Given the description of an element on the screen output the (x, y) to click on. 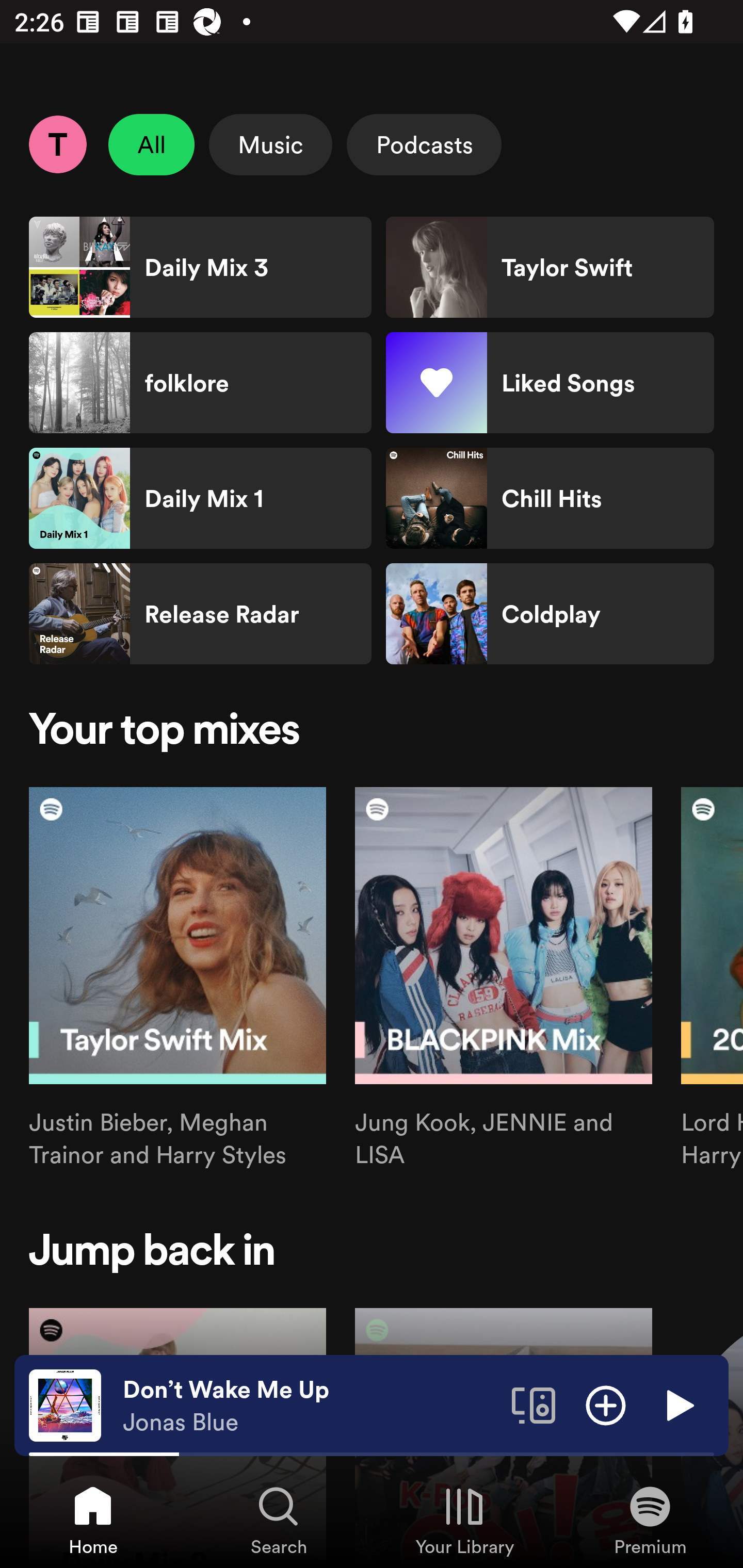
Profile (57, 144)
All Unselect All (151, 144)
Music Select Music (270, 144)
Podcasts Select Podcasts (423, 144)
Daily Mix 3 Shortcut Daily Mix 3 (199, 267)
Taylor Swift Shortcut Taylor Swift (549, 267)
folklore Shortcut folklore (199, 382)
Liked Songs Shortcut Liked Songs (549, 382)
Daily Mix 1 Shortcut Daily Mix 1 (199, 498)
Chill Hits Shortcut Chill Hits (549, 498)
Release Radar Shortcut Release Radar (199, 613)
Coldplay Shortcut Coldplay (549, 613)
Don’t Wake Me Up Jonas Blue (309, 1405)
The cover art of the currently playing track (64, 1404)
Connect to a device. Opens the devices menu (533, 1404)
Add item (605, 1404)
Play (677, 1404)
Home, Tab 1 of 4 Home Home (92, 1519)
Search, Tab 2 of 4 Search Search (278, 1519)
Your Library, Tab 3 of 4 Your Library Your Library (464, 1519)
Premium, Tab 4 of 4 Premium Premium (650, 1519)
